Given the description of an element on the screen output the (x, y) to click on. 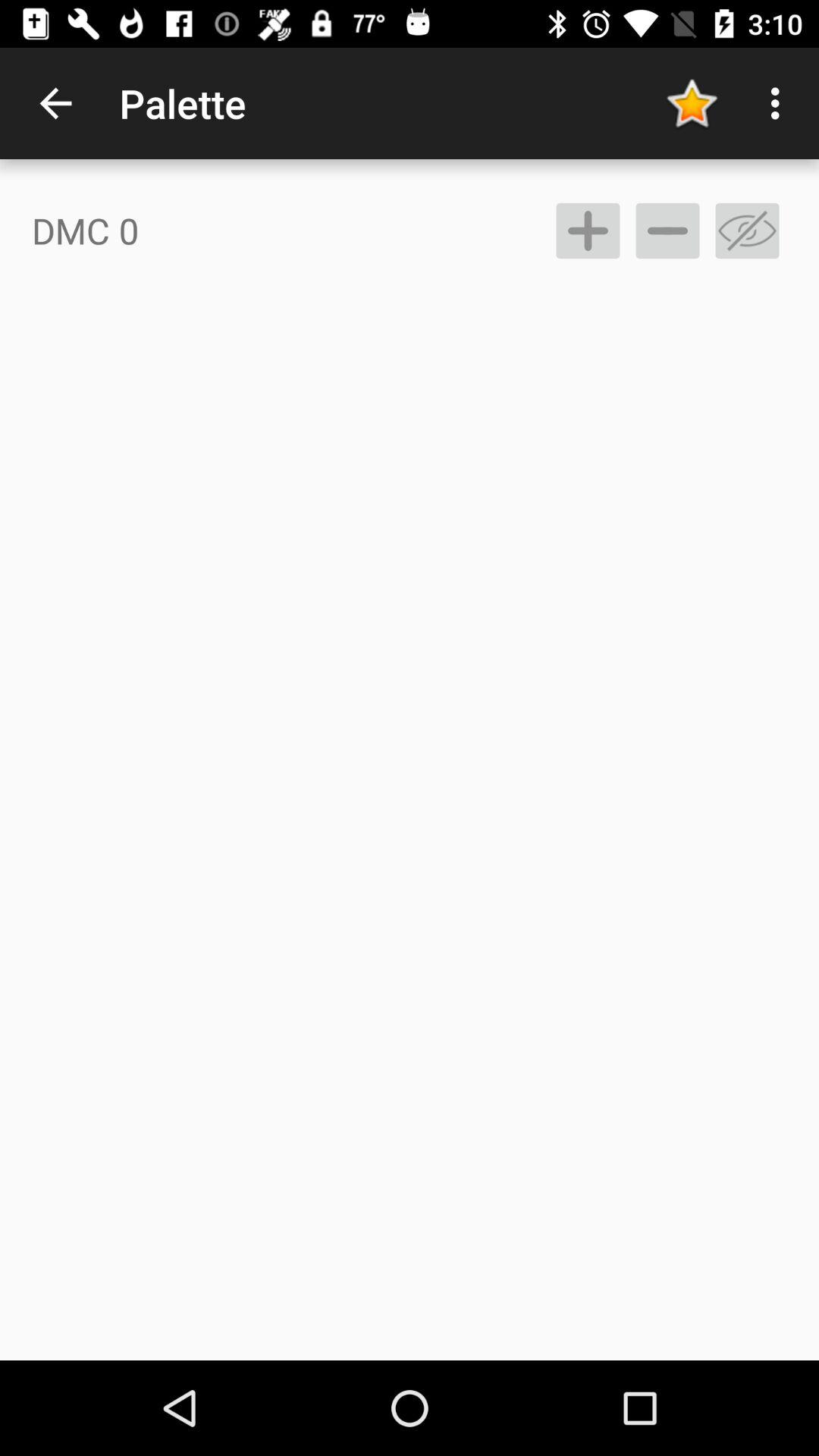
show/hide (747, 230)
